Given the description of an element on the screen output the (x, y) to click on. 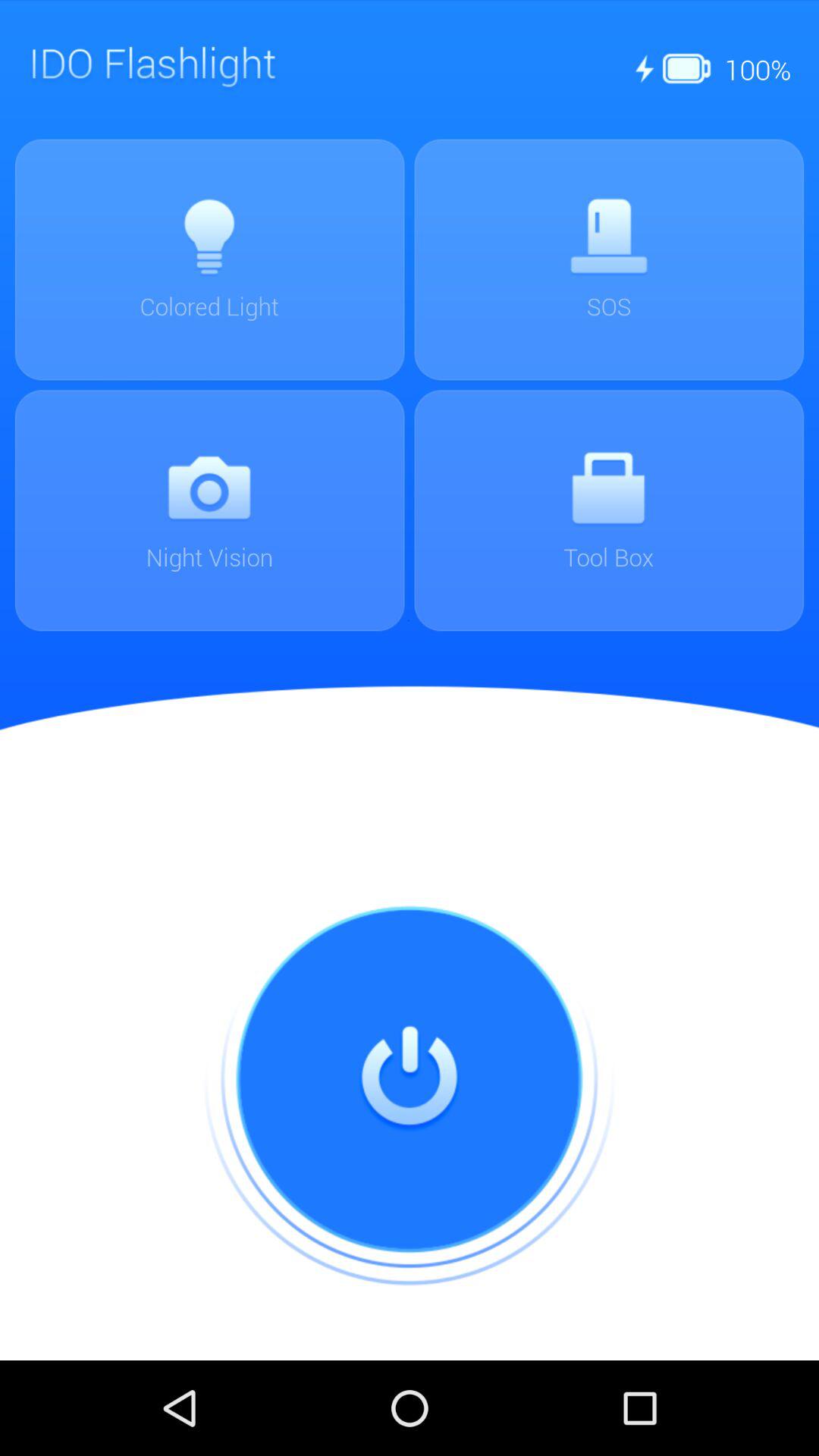
switch off button (409, 1079)
